Given the description of an element on the screen output the (x, y) to click on. 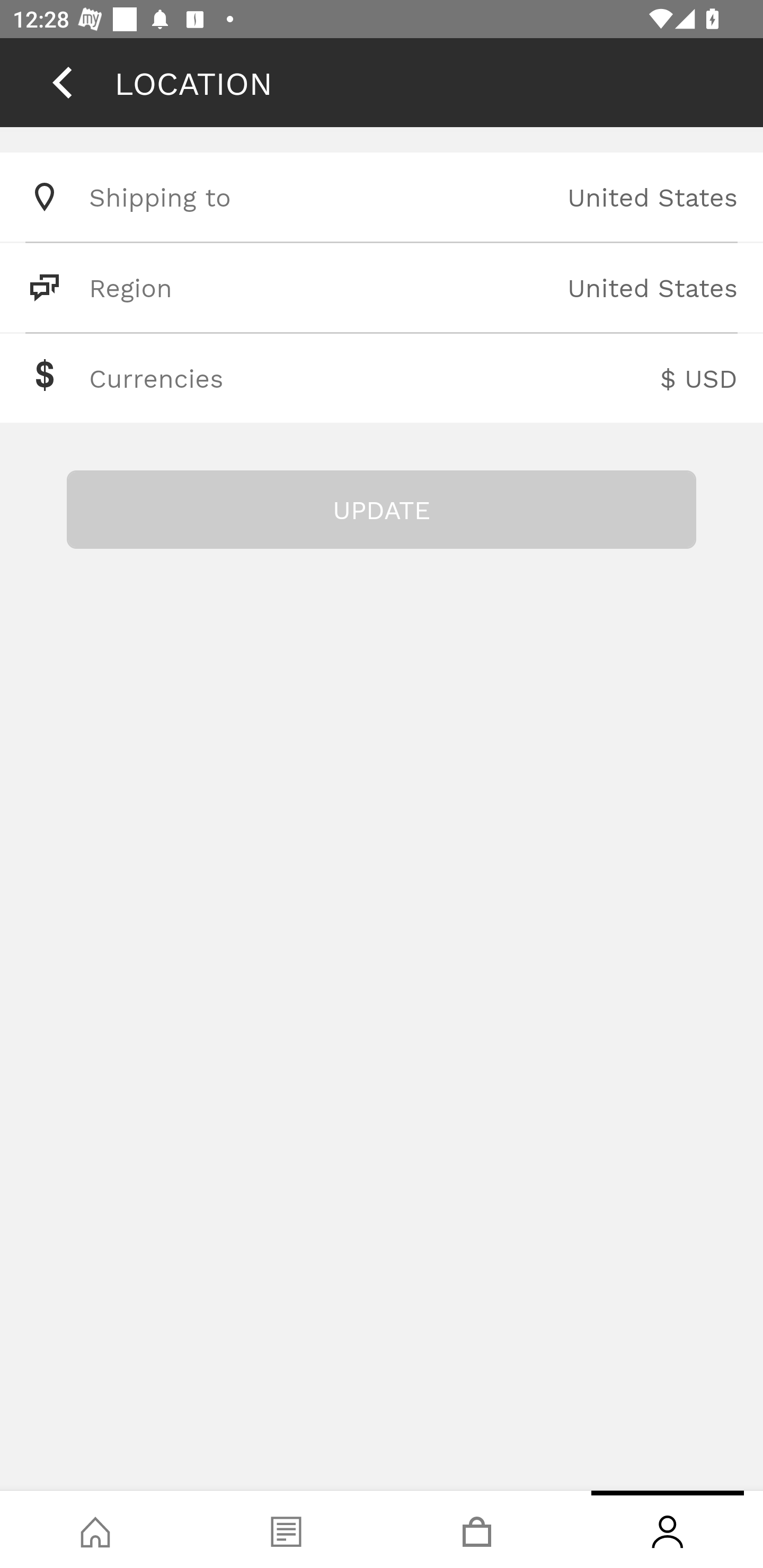
ACCOUNT, back (61, 82)
Shipping to Shipping to United States (381, 196)
Region Region United States (381, 287)
Currencies Currencies $ USD (381, 378)
Update UPDATE (381, 509)
Shop, tab, 1 of 4 (95, 1529)
Blog, tab, 2 of 4 (285, 1529)
Basket, tab, 3 of 4 (476, 1529)
Account, tab, 4 of 4 (667, 1529)
